Given the description of an element on the screen output the (x, y) to click on. 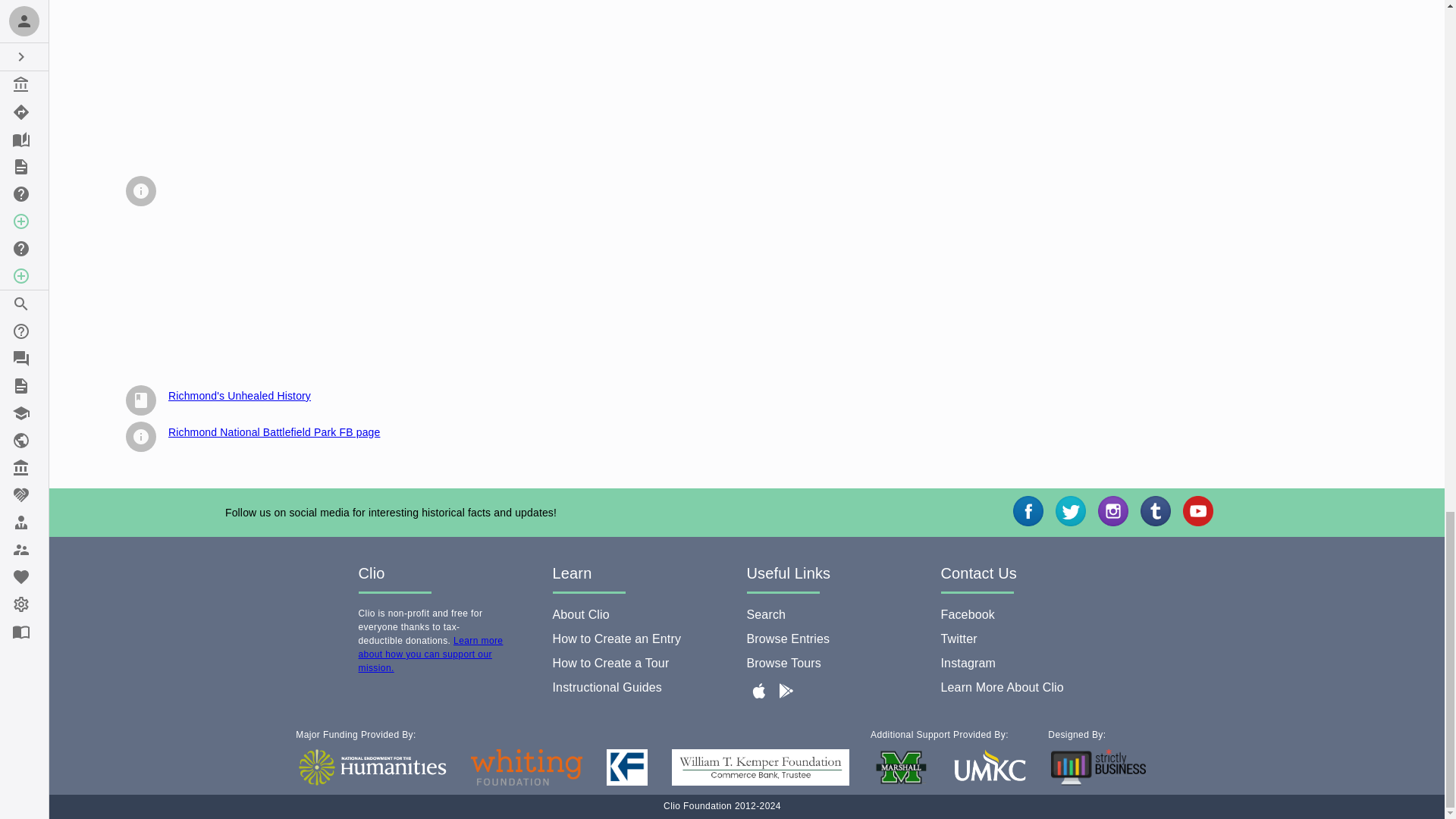
Richmond National Battlefield Park FB page (274, 431)
Richmond's Unhealed History (239, 395)
